Given the description of an element on the screen output the (x, y) to click on. 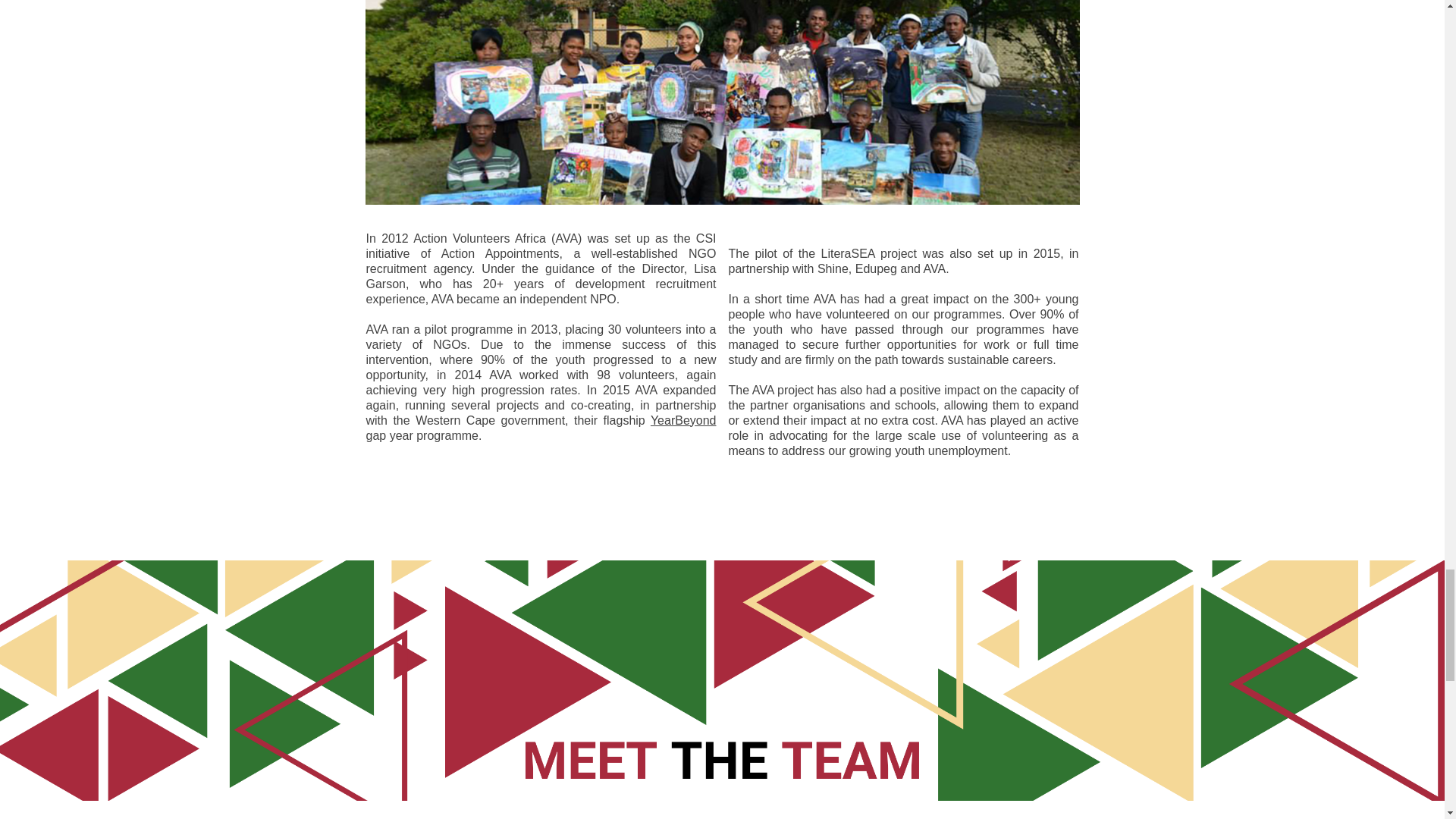
YearBeyond (683, 420)
